Given the description of an element on the screen output the (x, y) to click on. 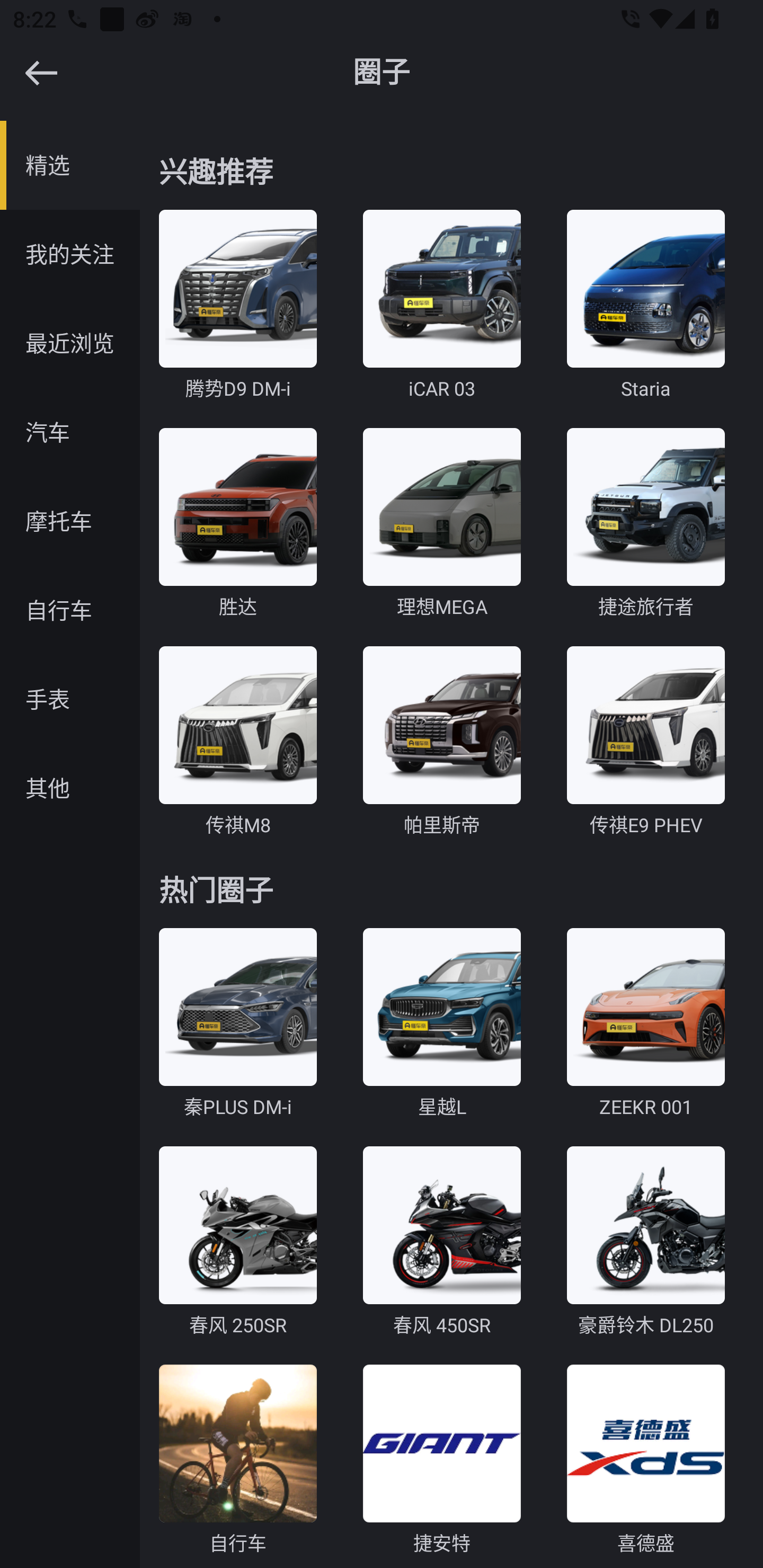
精选 (69, 165)
我的关注 (69, 254)
腾势D9 DM-i (237, 306)
iCAR 03 (442, 306)
Staria (645, 306)
最近浏览 (69, 343)
汽车 (69, 431)
胜达 (237, 524)
理想MEGA (442, 524)
捷途旅行者 (645, 524)
摩托车 (69, 521)
自行车 (69, 610)
传祺M8 (237, 742)
帕里斯帝 (442, 742)
传祺E9 PHEV (645, 742)
手表 (69, 699)
其他 (69, 787)
秦PLUS DM-i (237, 1024)
星越L (442, 1024)
ZEEKR 001 (645, 1024)
春风 250SR (237, 1242)
春风 450SR (442, 1242)
豪爵铃木 DL250 (645, 1242)
自行车 (237, 1460)
捷安特 (442, 1460)
喜德盛 (645, 1460)
